Given the description of an element on the screen output the (x, y) to click on. 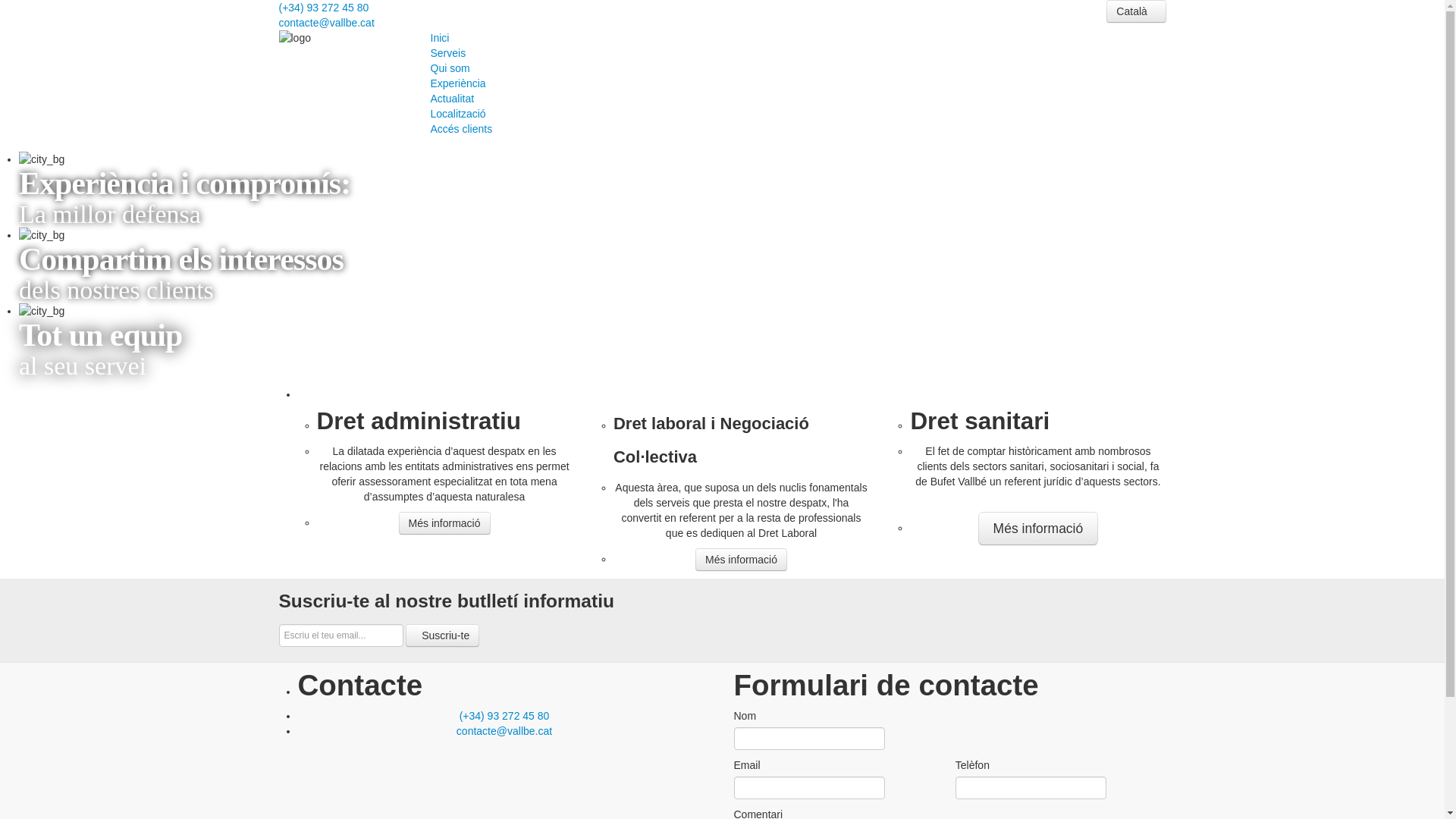
contacte@vallbe.cat Element type: text (504, 730)
  Suscriu-te Element type: text (442, 635)
Actualitat Element type: text (798, 98)
Serveis Element type: text (798, 52)
Inici Element type: text (798, 37)
Qui som Element type: text (798, 67)
(+34) 93 272 45 80 Element type: text (324, 7)
contacte@vallbe.cat Element type: text (326, 22)
(+34) 93 272 45 80 Element type: text (504, 715)
